Given the description of an element on the screen output the (x, y) to click on. 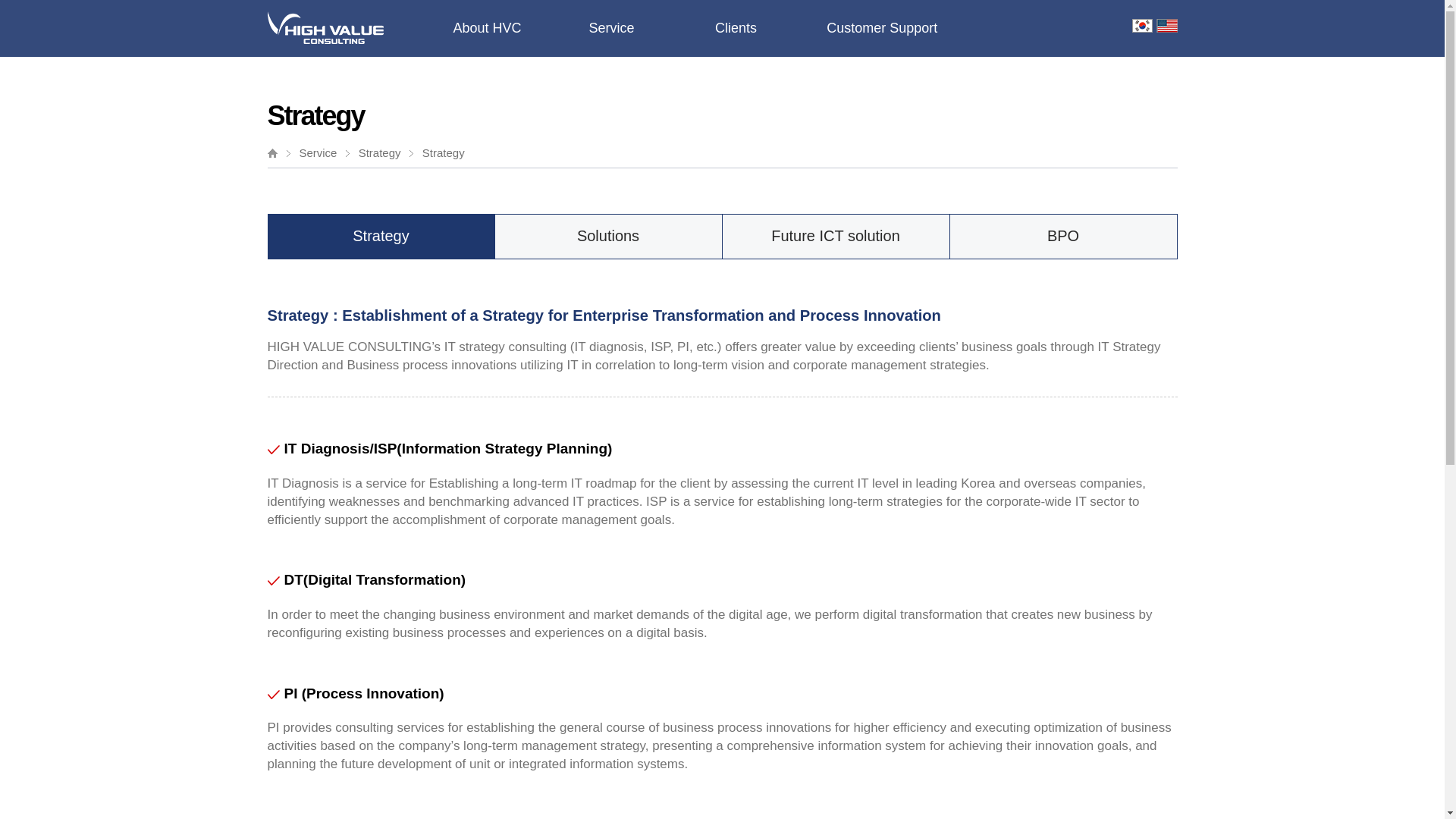
BPO (1062, 236)
Strategy (380, 236)
Solutions (608, 236)
About HVC (486, 28)
Clients (734, 28)
Service (610, 28)
Future ICT solution (835, 236)
Customer Support (881, 28)
